Given the description of an element on the screen output the (x, y) to click on. 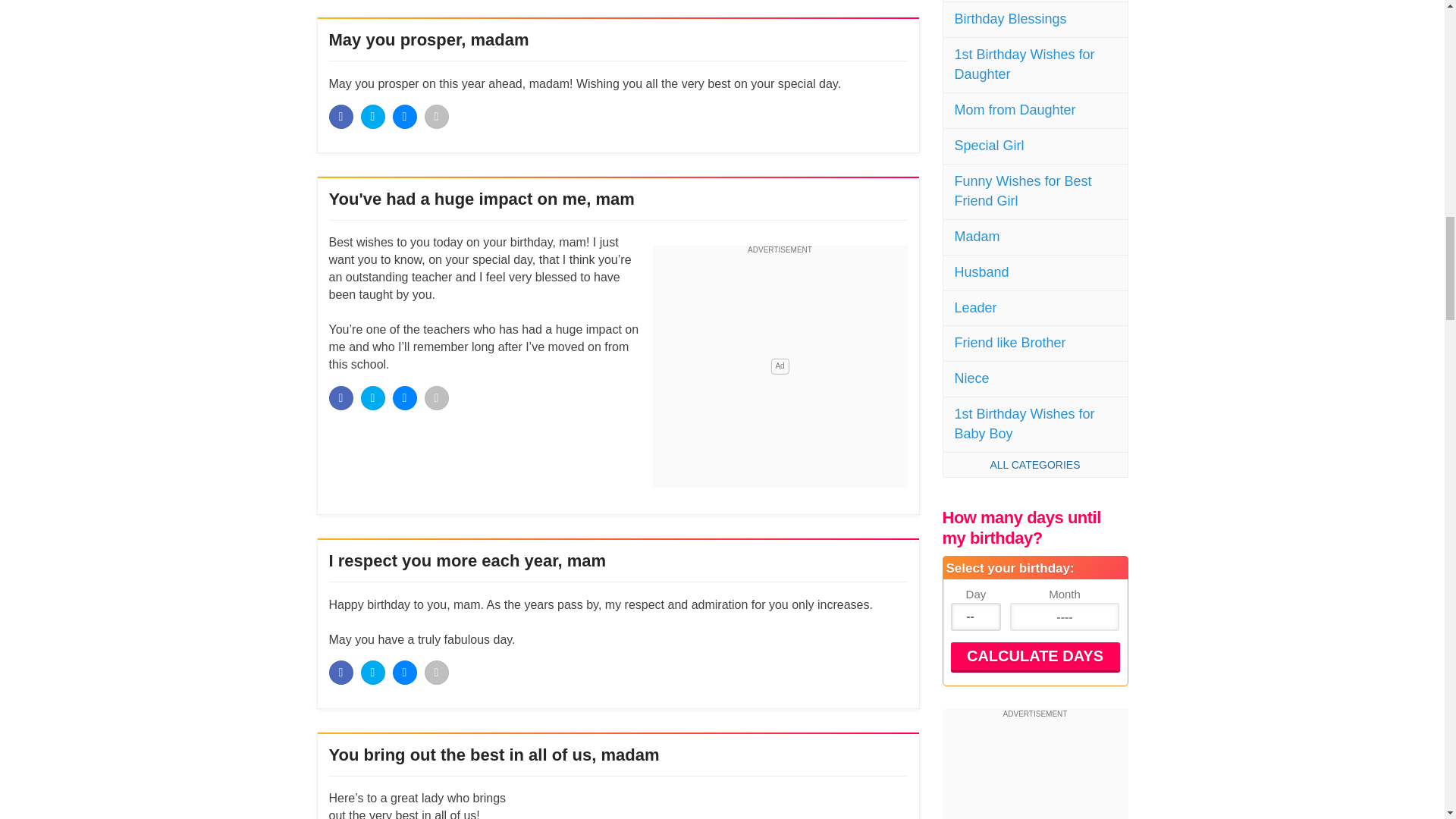
Calculate Days (1034, 656)
